Given the description of an element on the screen output the (x, y) to click on. 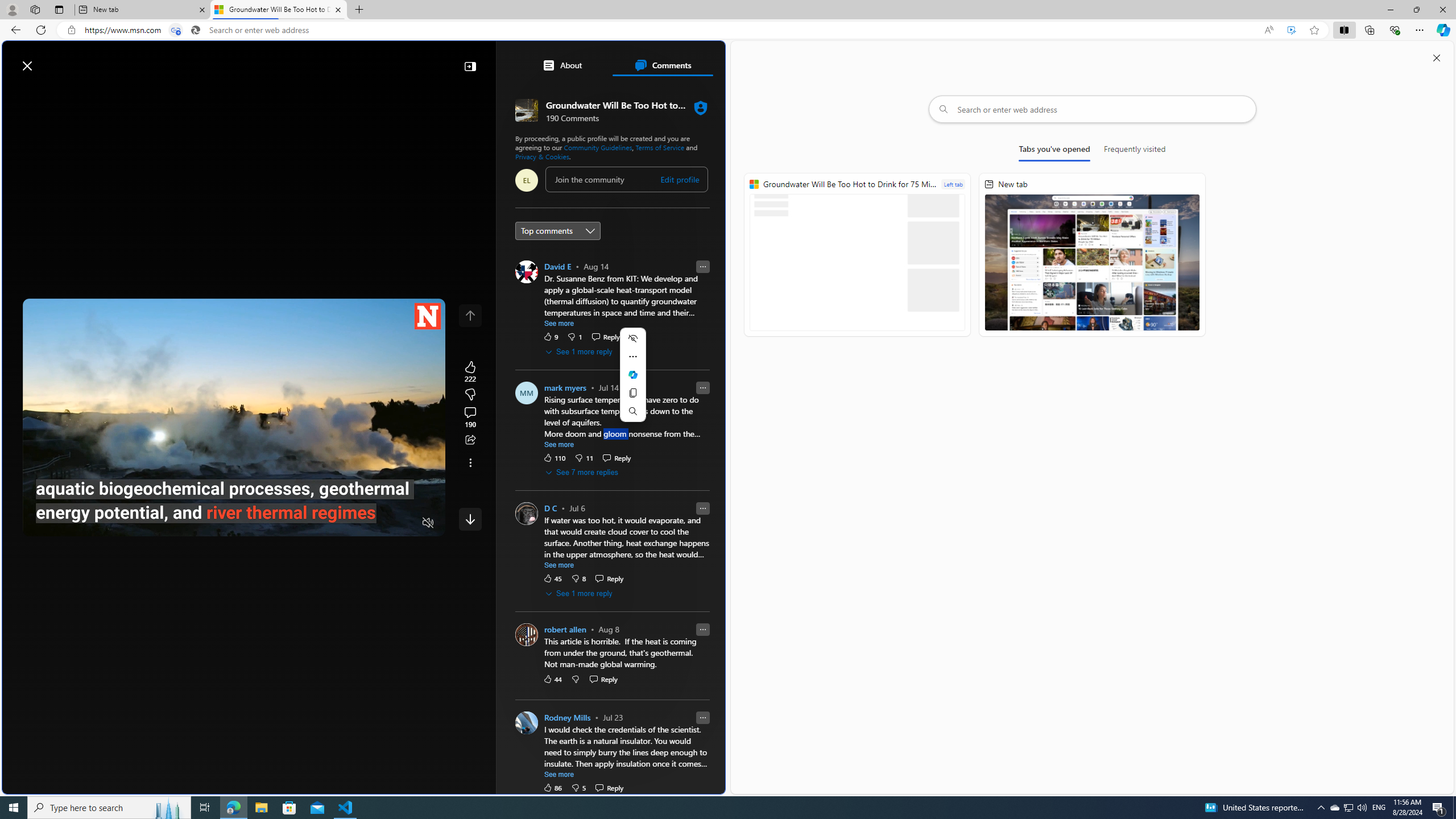
Comments (662, 64)
AutomationID: e5rZOEMGacU1 (469, 518)
Ask Copilot (632, 375)
Forge of Empires (582, 601)
comment-box (625, 179)
Edit profile (679, 179)
Hide menu (632, 338)
